Given the description of an element on the screen output the (x, y) to click on. 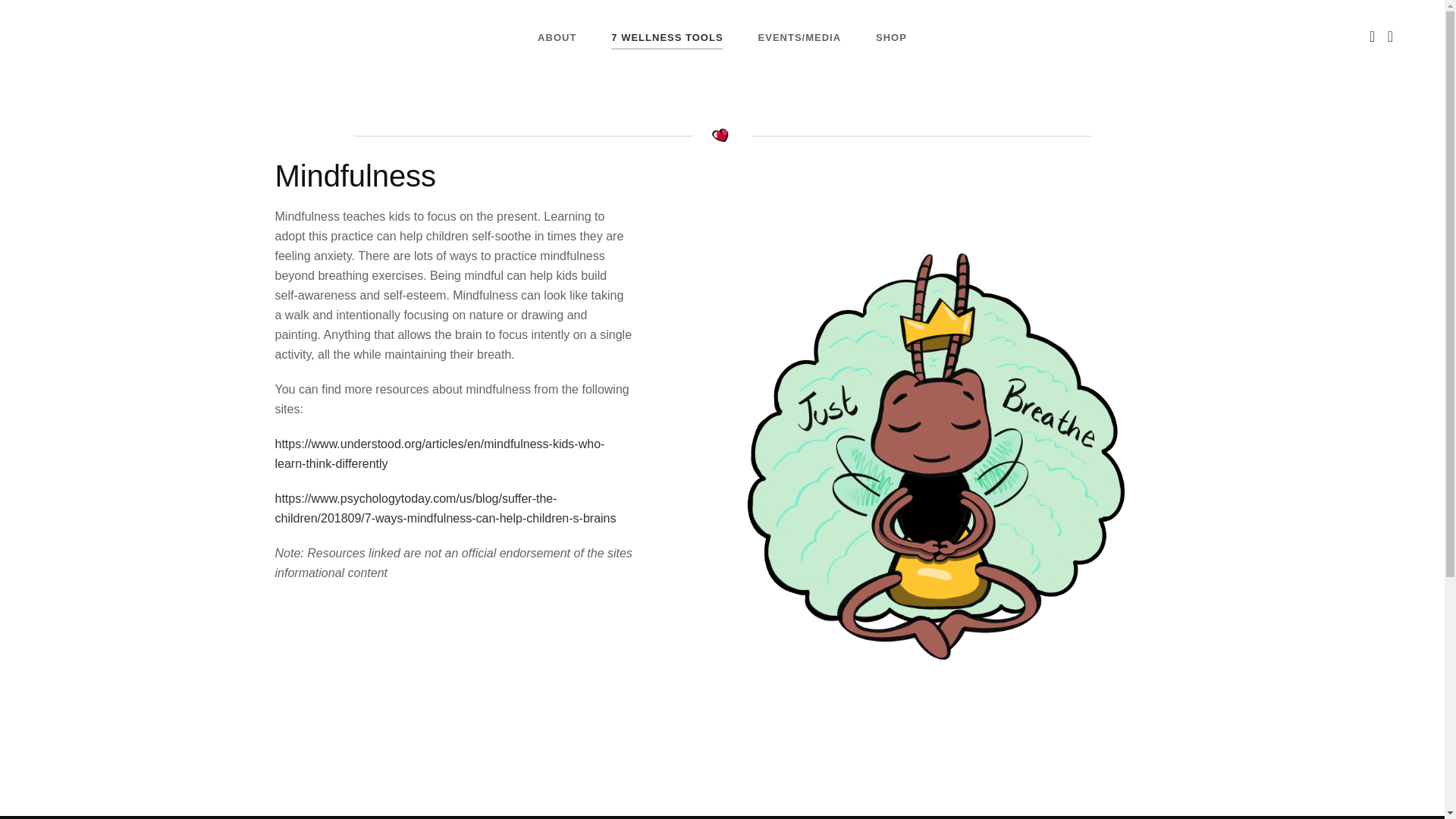
ABOUT (556, 38)
7 WELLNESS TOOLS (666, 38)
SHOP (891, 38)
